Given the description of an element on the screen output the (x, y) to click on. 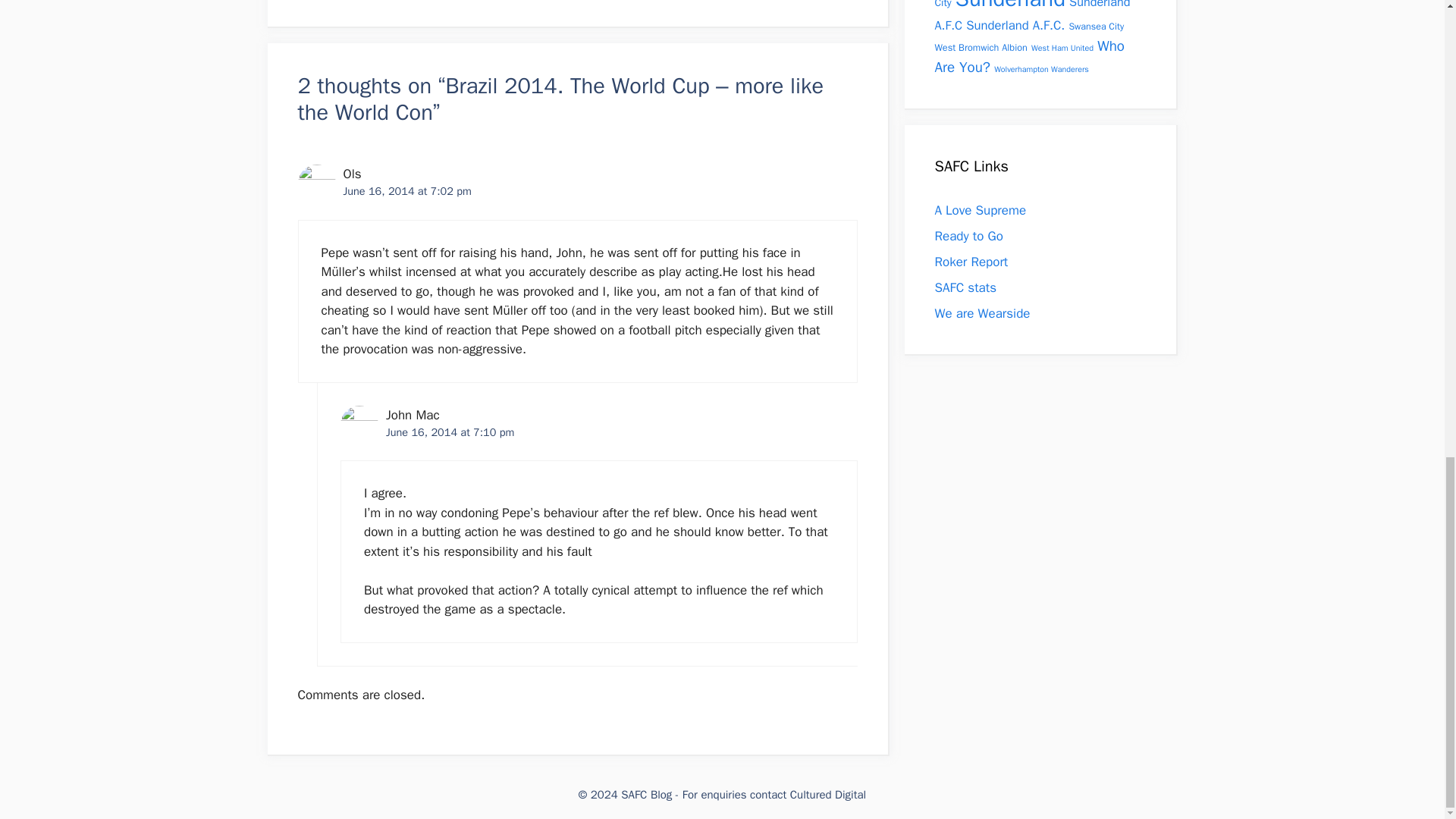
June 16, 2014 at 7:02 pm (406, 191)
June 16, 2014 at 7:10 pm (449, 431)
